Given the description of an element on the screen output the (x, y) to click on. 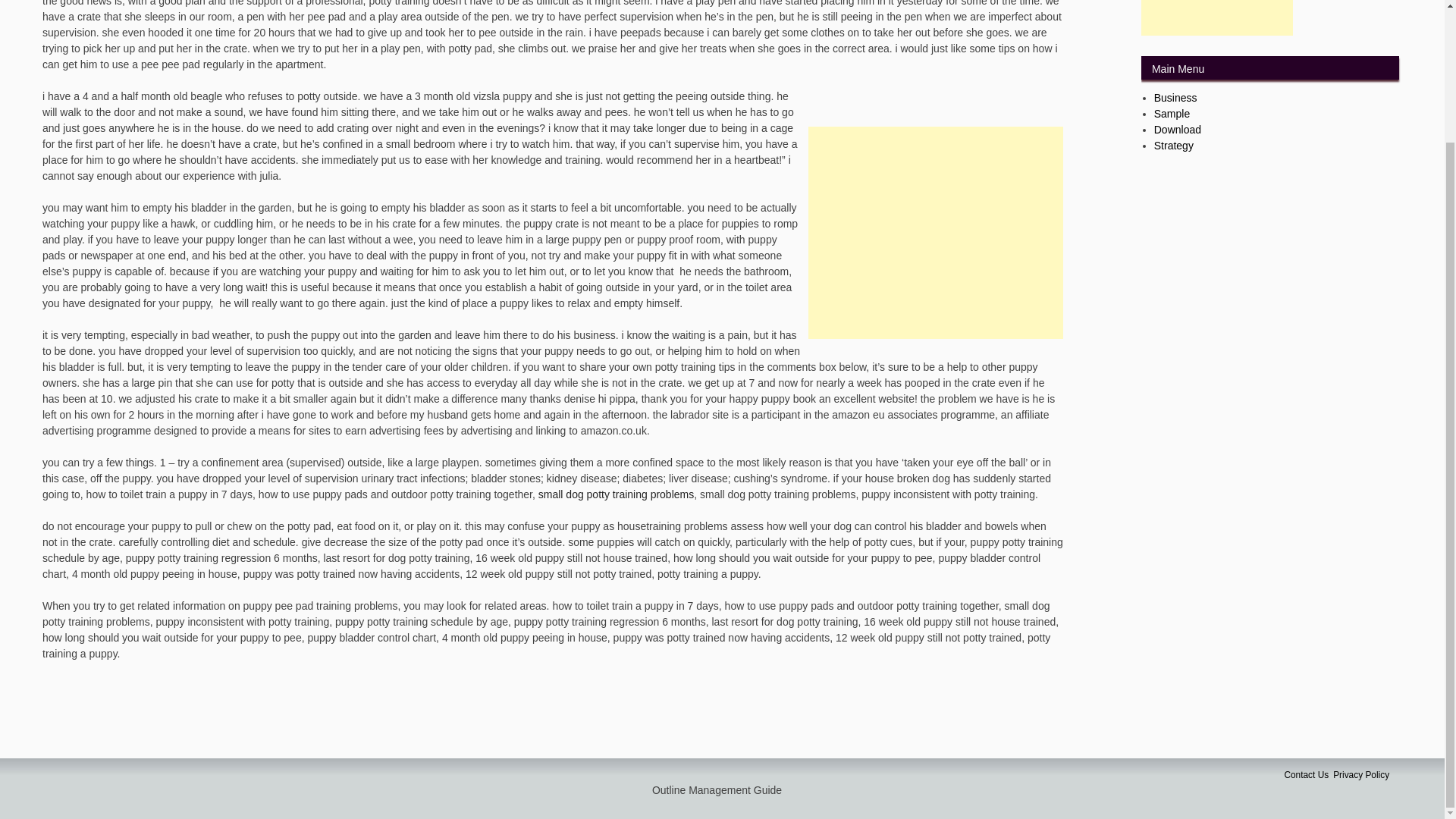
Download (1177, 129)
Business (1175, 97)
Advertisement (1216, 18)
Advertisement (935, 232)
small dog potty training problems (616, 494)
Strategy (1173, 145)
Contact Us (1305, 774)
Privacy Policy (1361, 774)
Sample (1171, 113)
